Given the description of an element on the screen output the (x, y) to click on. 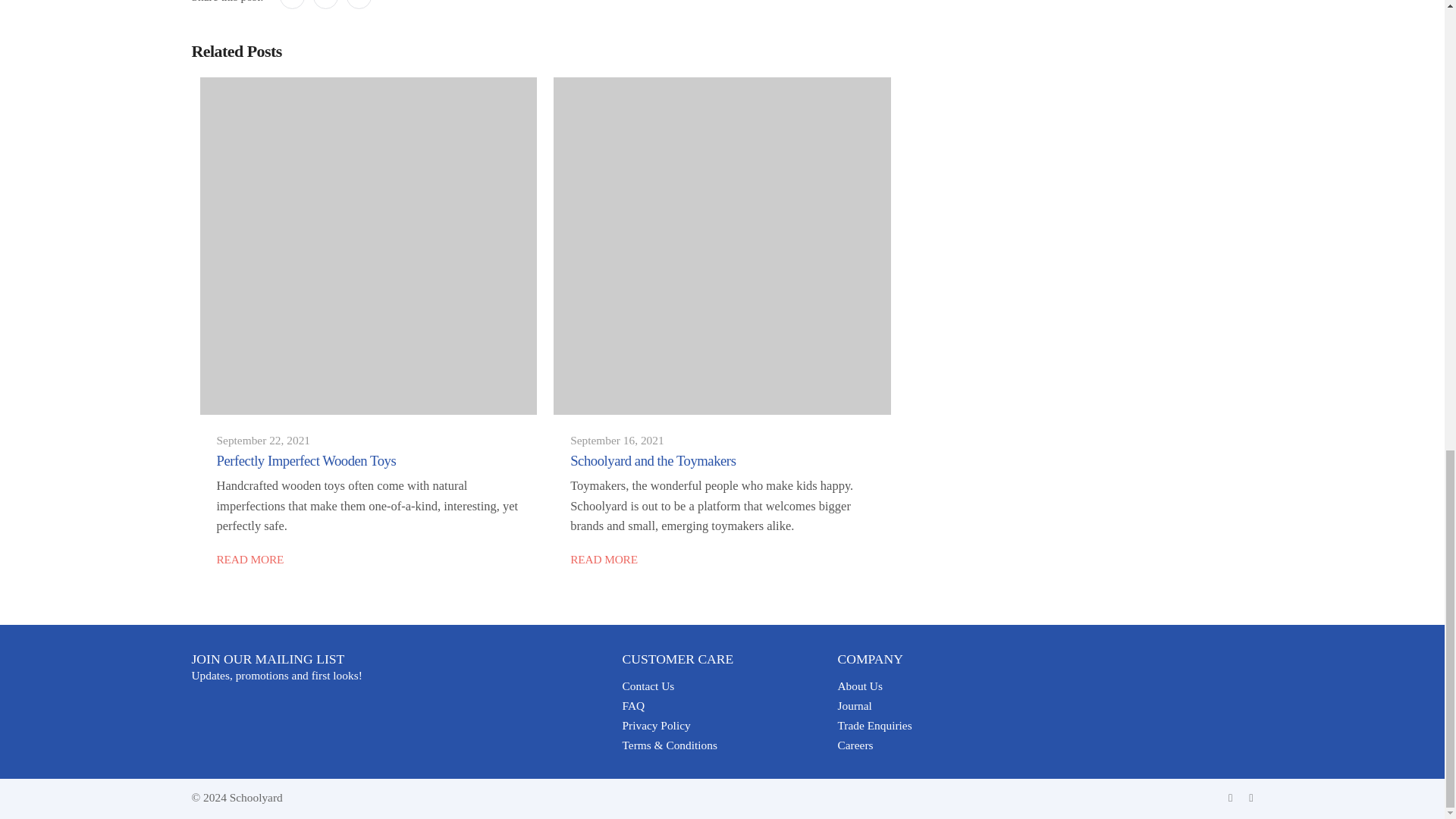
READ MORE (603, 559)
Facebook (291, 4)
Twitter (325, 4)
READ MORE (249, 559)
Pinterest (358, 4)
